Given the description of an element on the screen output the (x, y) to click on. 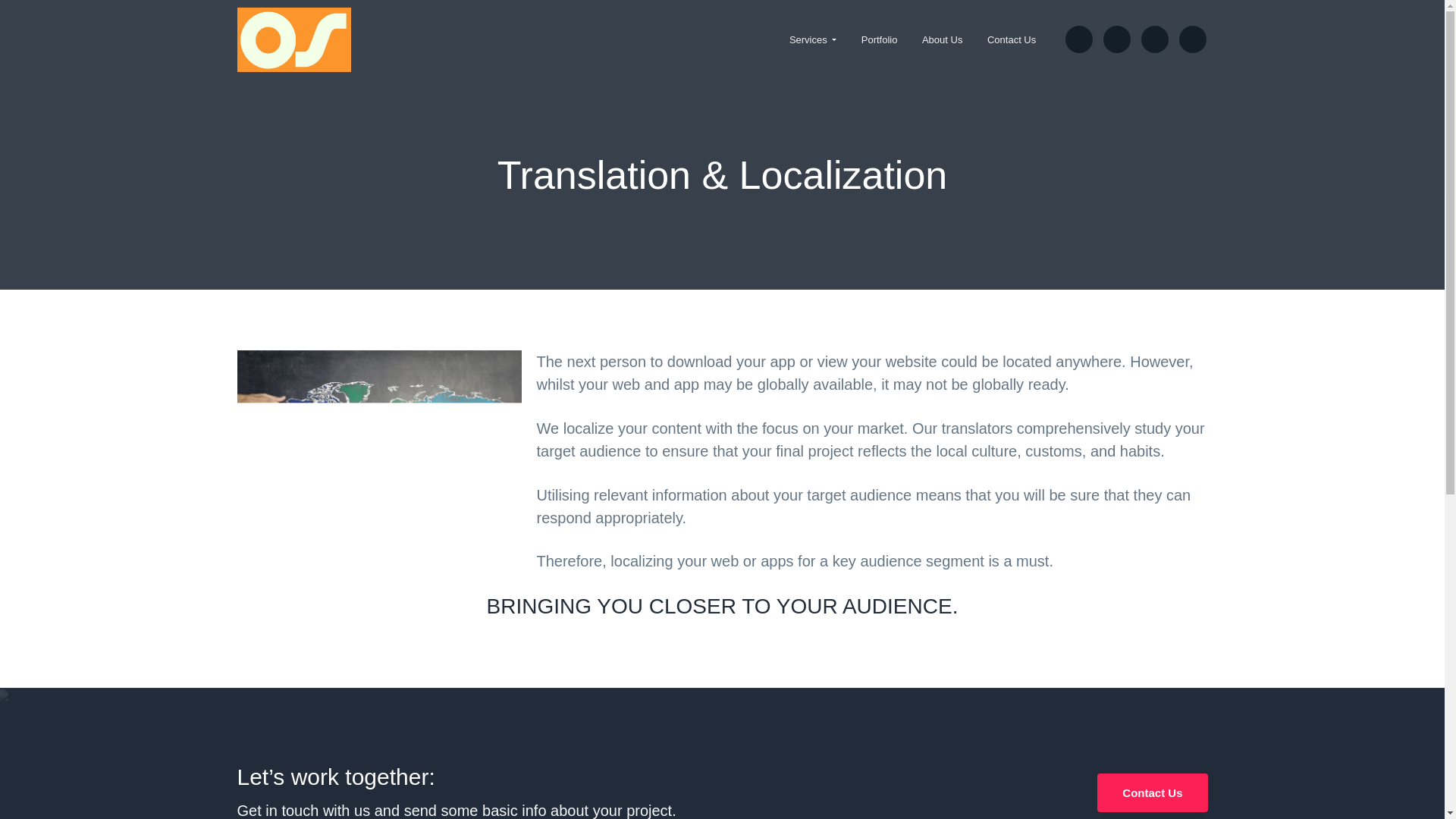
Portfolio (879, 39)
Contact Us (1152, 792)
Services (812, 39)
About Us (942, 39)
OptSearch Solutions (299, 78)
Contact Us (1011, 39)
